Given the description of an element on the screen output the (x, y) to click on. 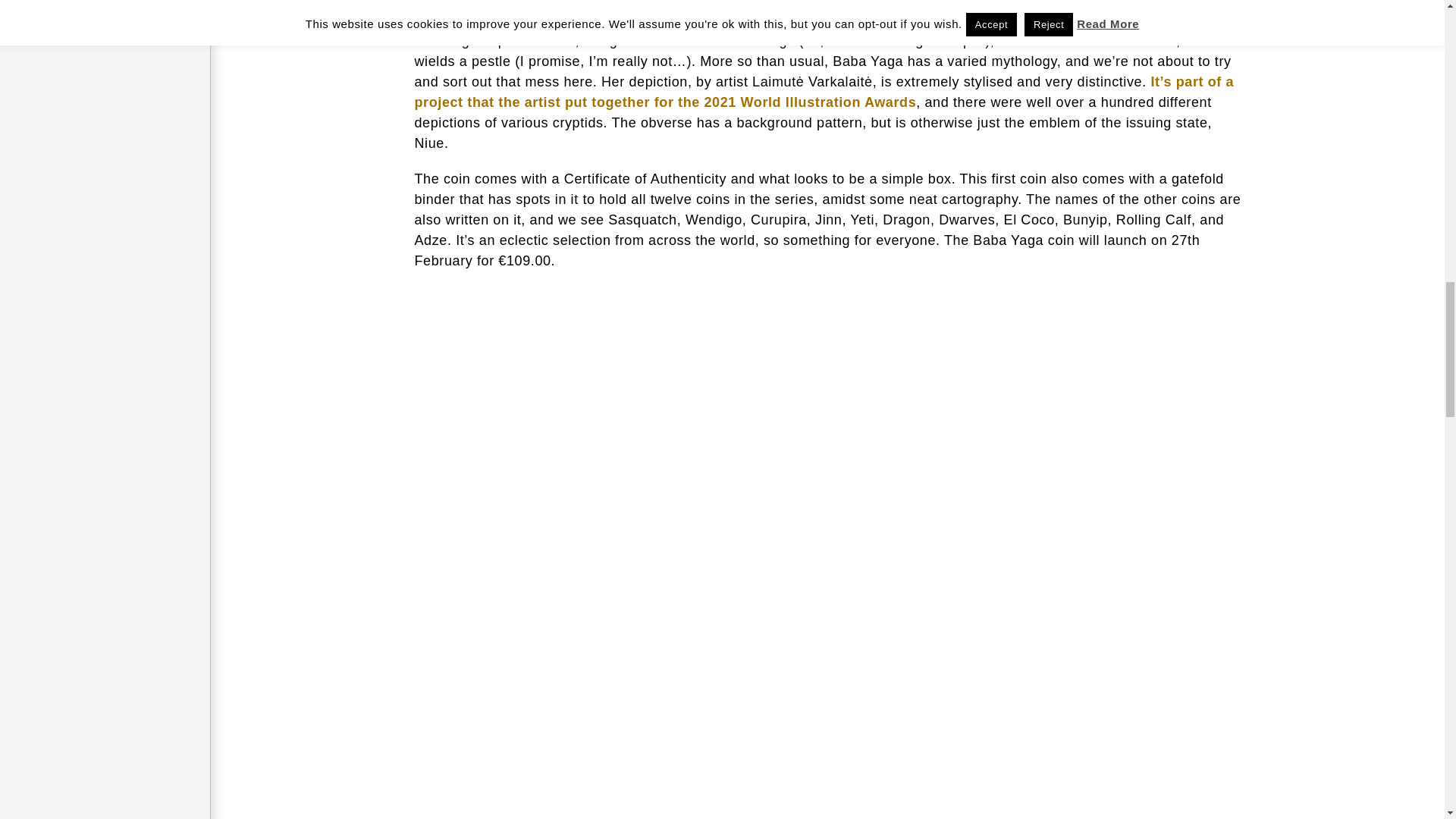
2023-LIT-Cryptid-Baba-Yaga-BOX (548, 328)
2023-LIT-Cryptid-Baba-Yaga-CARD (1107, 328)
